Given the description of an element on the screen output the (x, y) to click on. 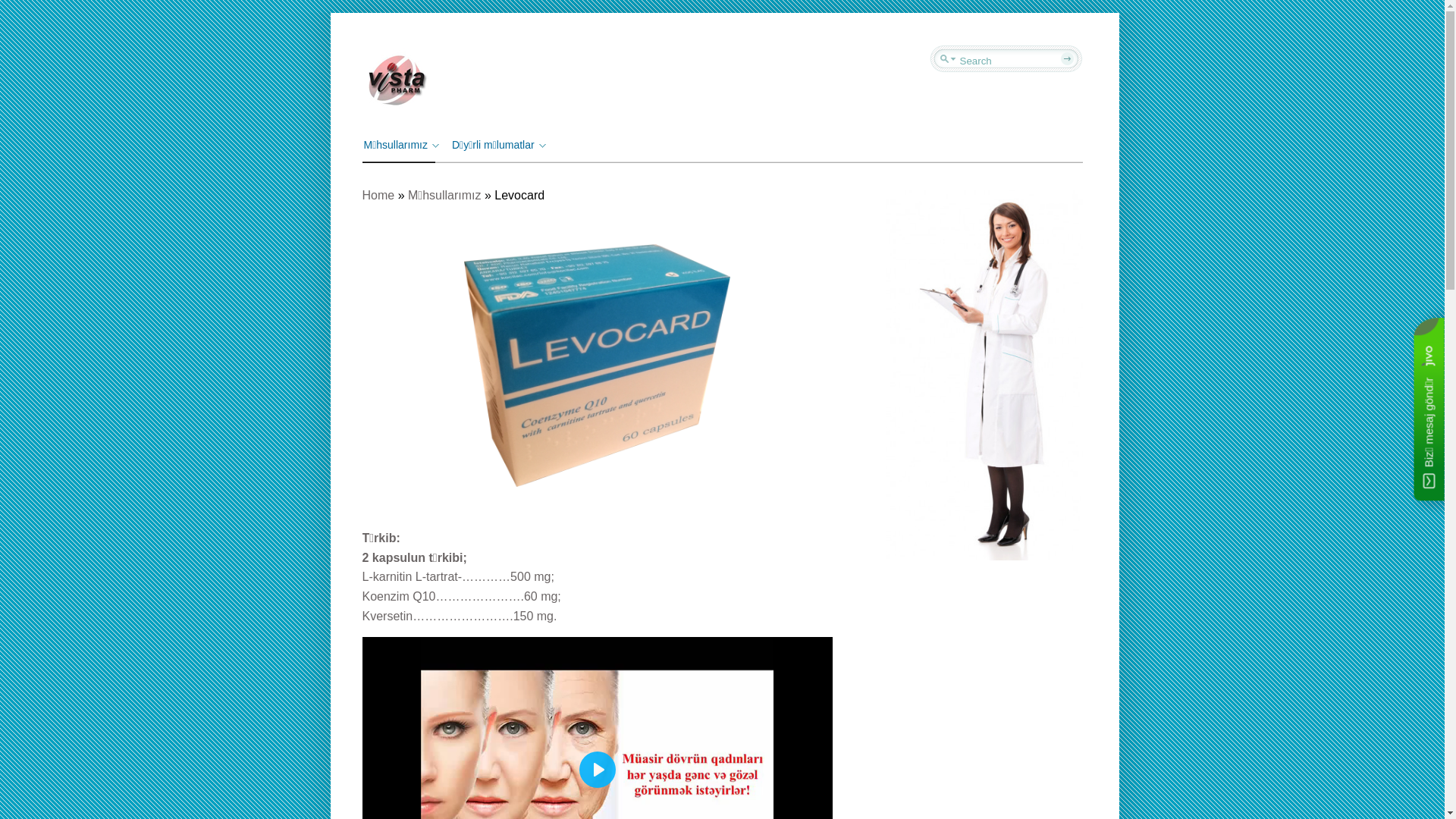
Home Element type: text (378, 194)
Play Element type: text (597, 769)
